Given the description of an element on the screen output the (x, y) to click on. 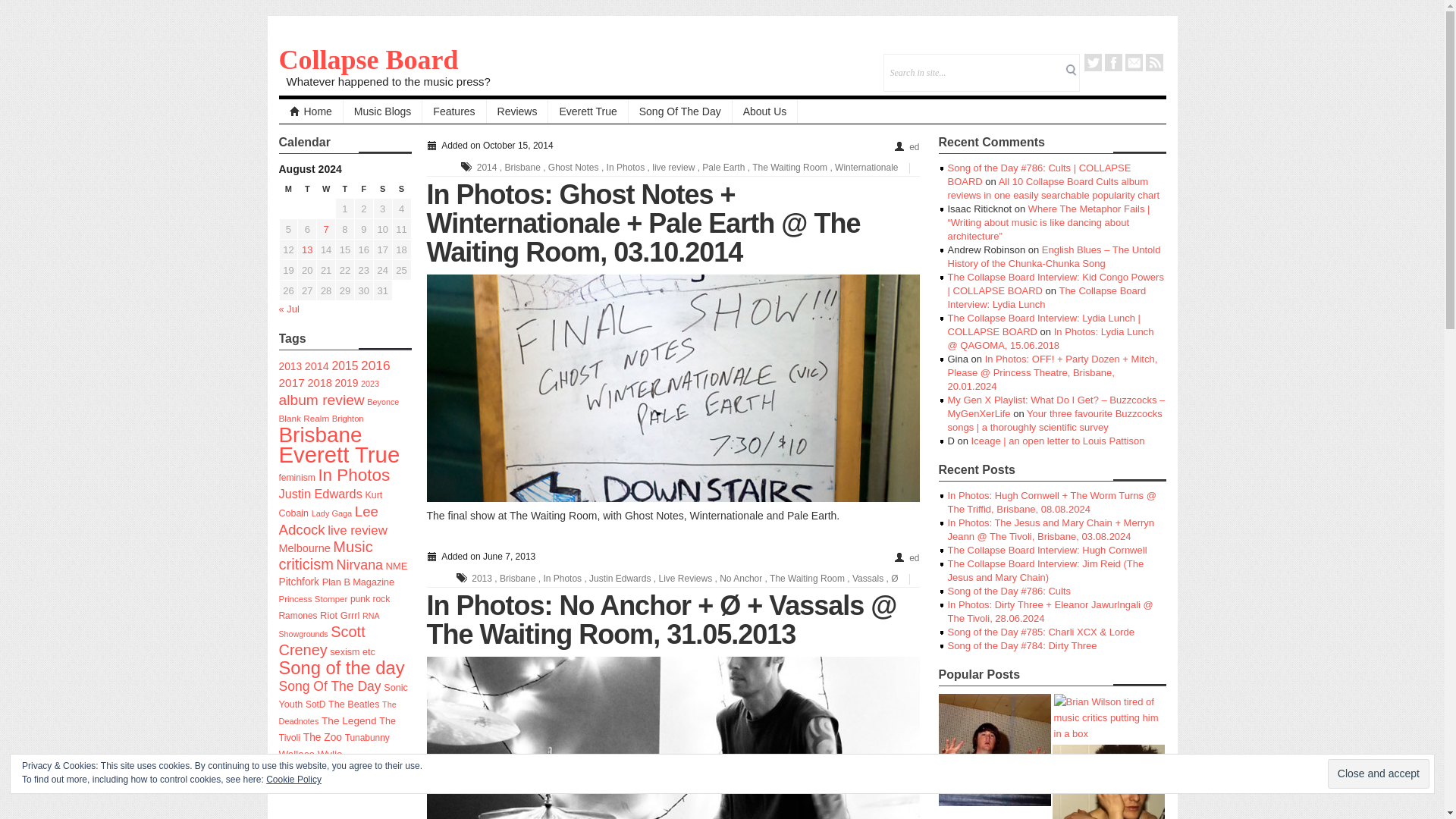
Features (454, 111)
Facebook (1112, 62)
Connect on Facebook (1112, 62)
Music Blogs (382, 111)
Search in site... (973, 72)
Collapse Board (368, 60)
Follow on Twitter (1093, 62)
We criticise because we care (368, 60)
Whatever happened to the music press? (384, 81)
Close and accept (1378, 773)
